Given the description of an element on the screen output the (x, y) to click on. 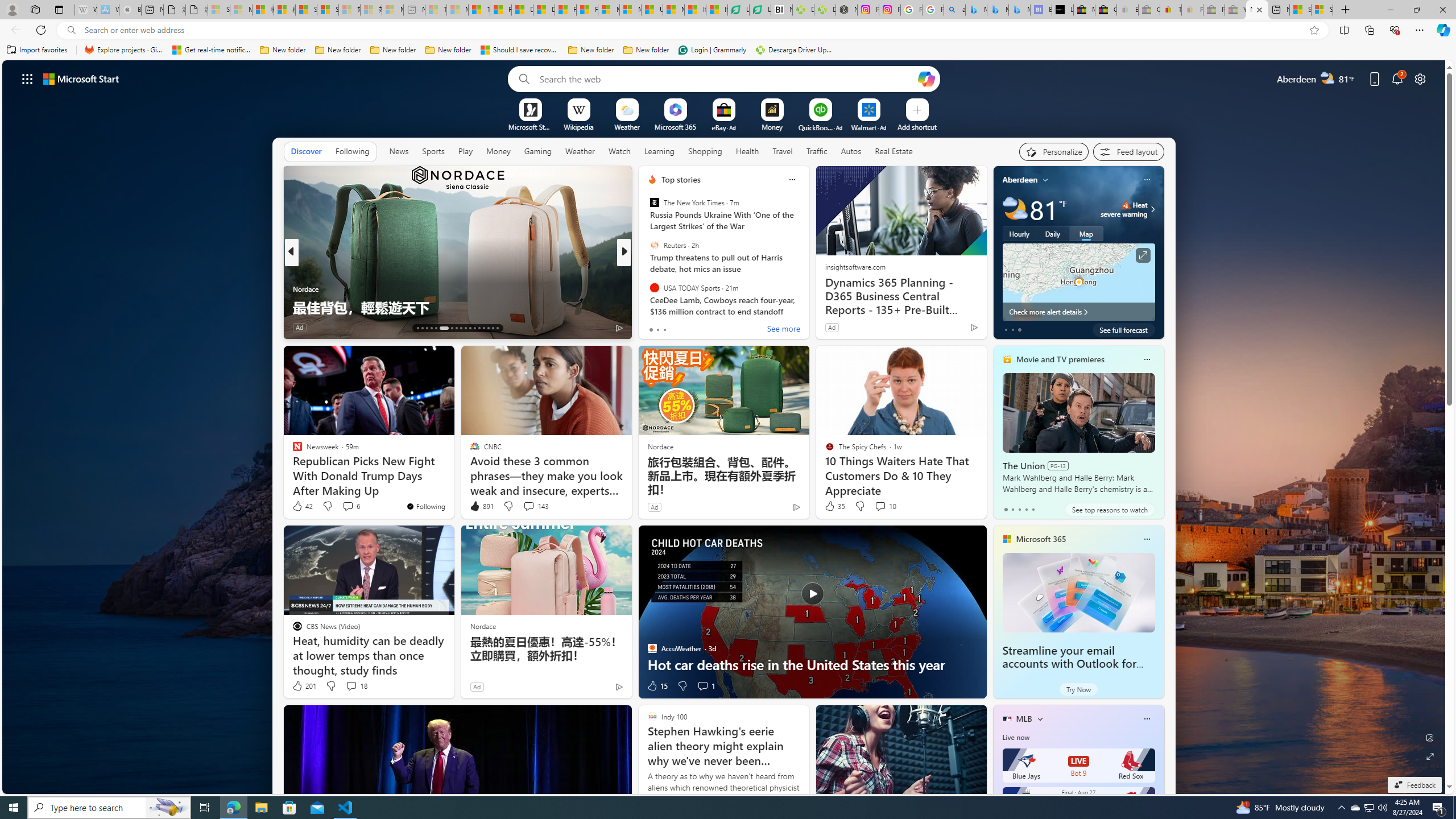
AutomationID: tab-17 (435, 328)
Add a site (916, 126)
USA TODAY Sports (654, 287)
AutomationID: tab-32 (492, 328)
App launcher (27, 78)
421 Like (654, 327)
This story is trending (951, 329)
